Given the description of an element on the screen output the (x, y) to click on. 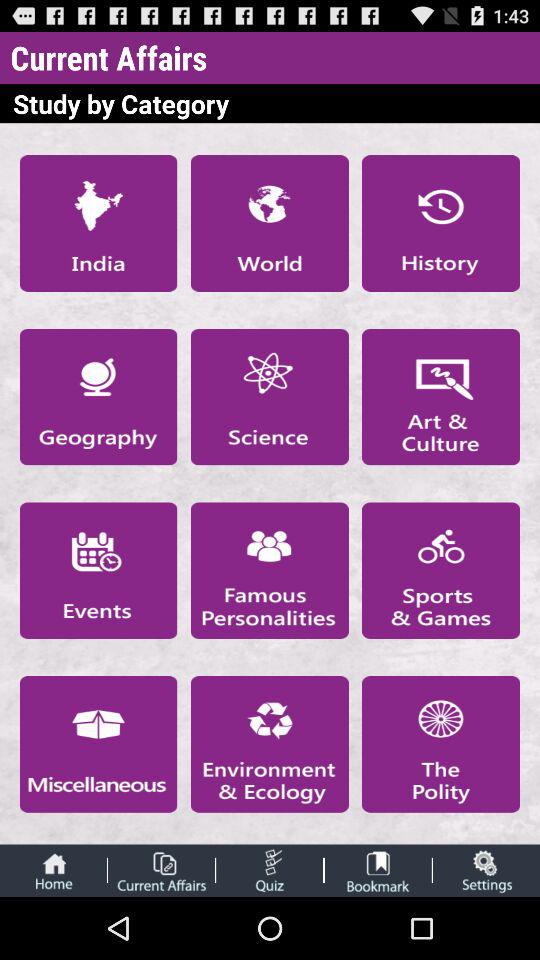
show events (98, 570)
